Given the description of an element on the screen output the (x, y) to click on. 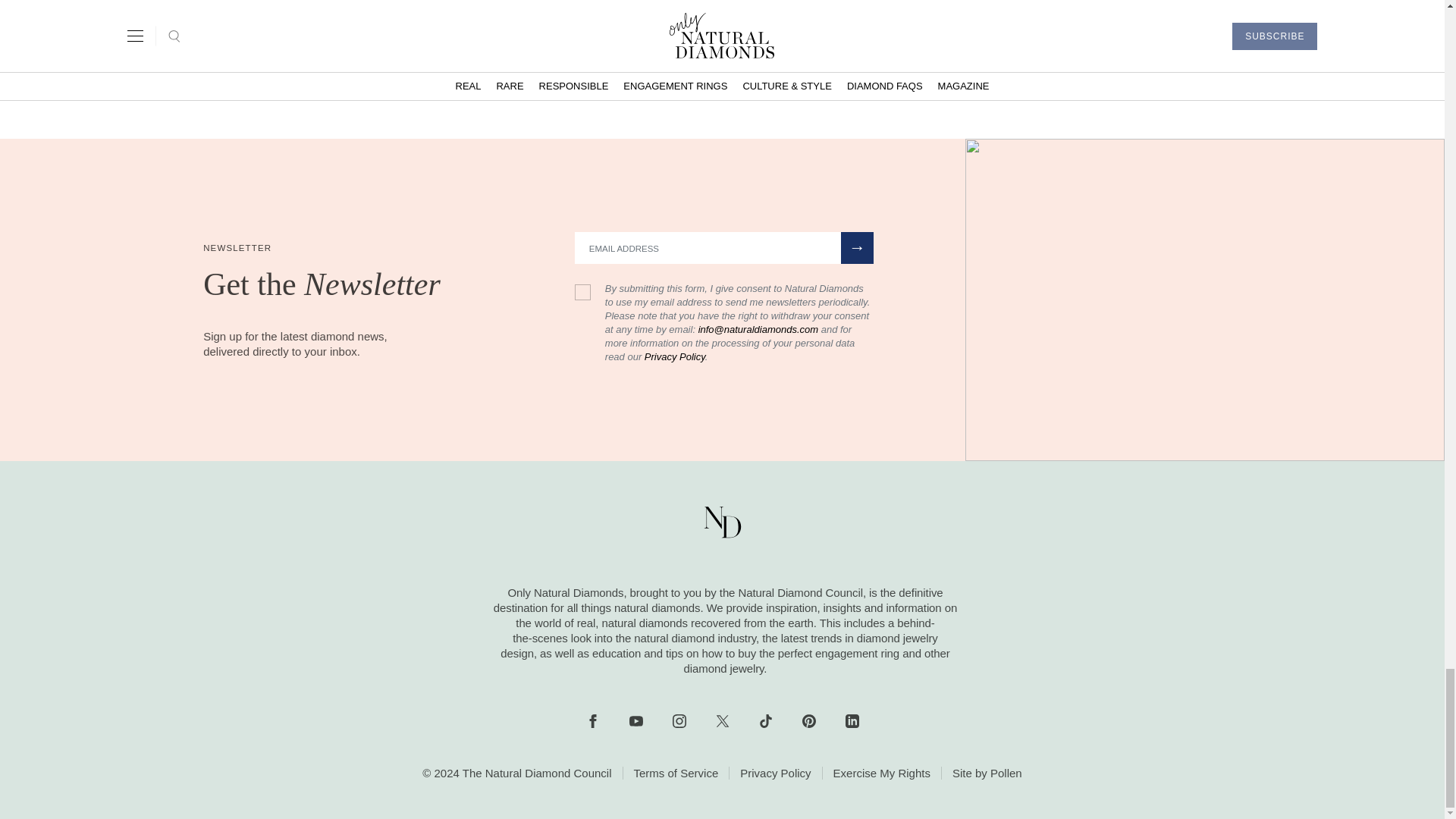
Share on Facebook (644, 72)
Clipboard (747, 72)
Tweet This (696, 72)
Email this page (798, 72)
